Given the description of an element on the screen output the (x, y) to click on. 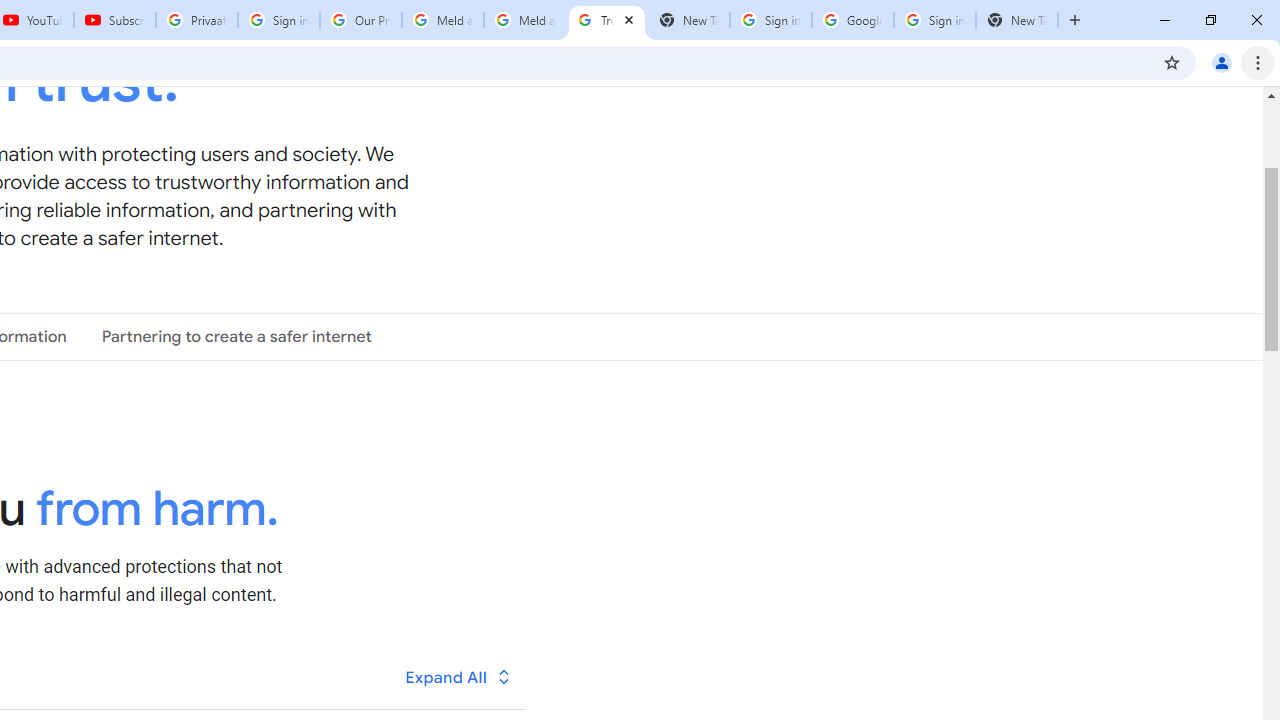
Expand All (459, 677)
Sign in - Google Accounts (770, 20)
